Given the description of an element on the screen output the (x, y) to click on. 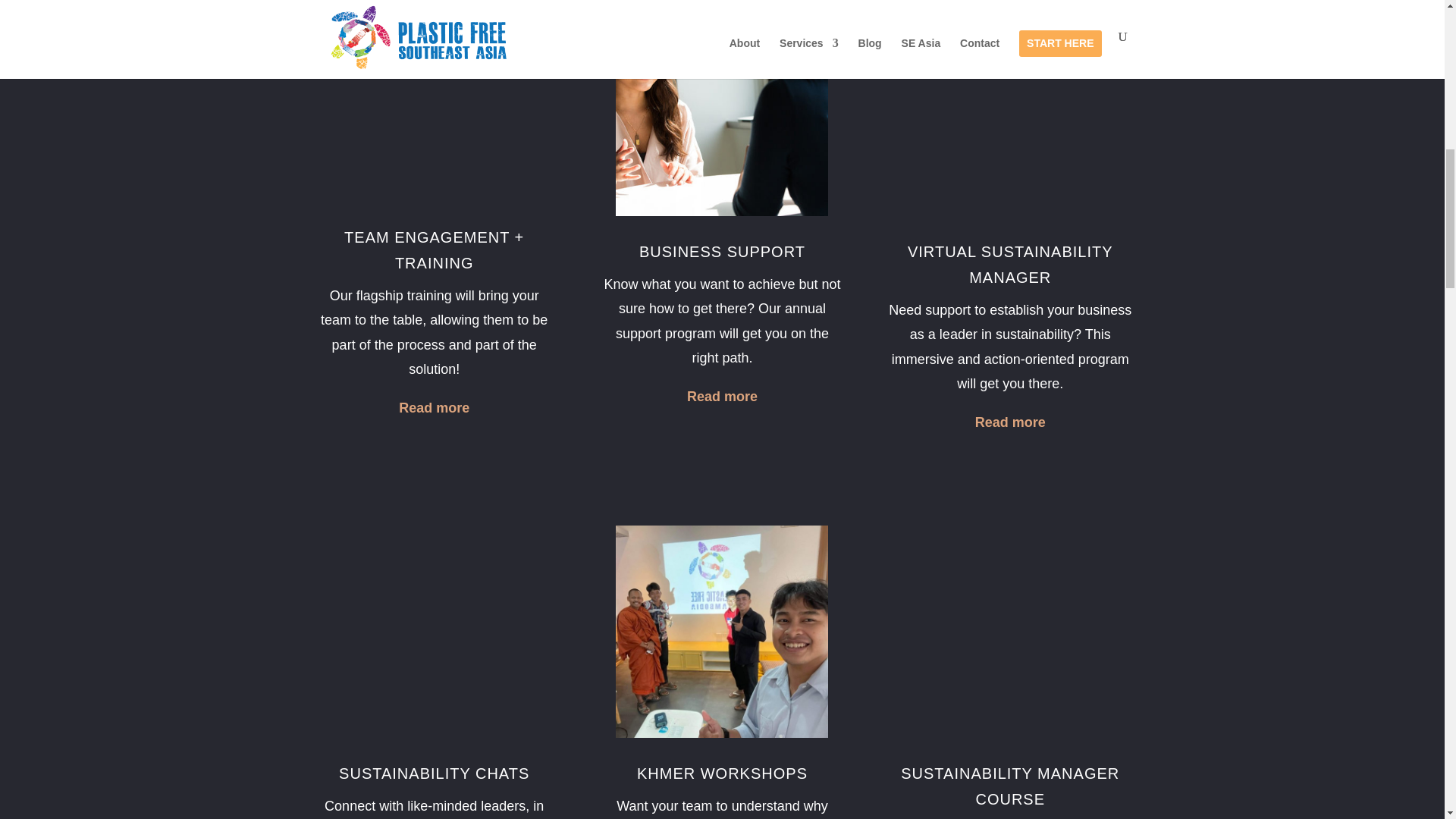
BUSINESS SUPPORT (722, 251)
Read more (433, 407)
KHMER WORKSHOPS (722, 773)
Read more (1010, 421)
SUSTAINABILITY MANAGER COURSE (1010, 785)
VIRTUAL SUSTAINABILITY MANAGER (1010, 264)
Read more (722, 396)
SUSTAINABILITY CHATS (434, 773)
